Given the description of an element on the screen output the (x, y) to click on. 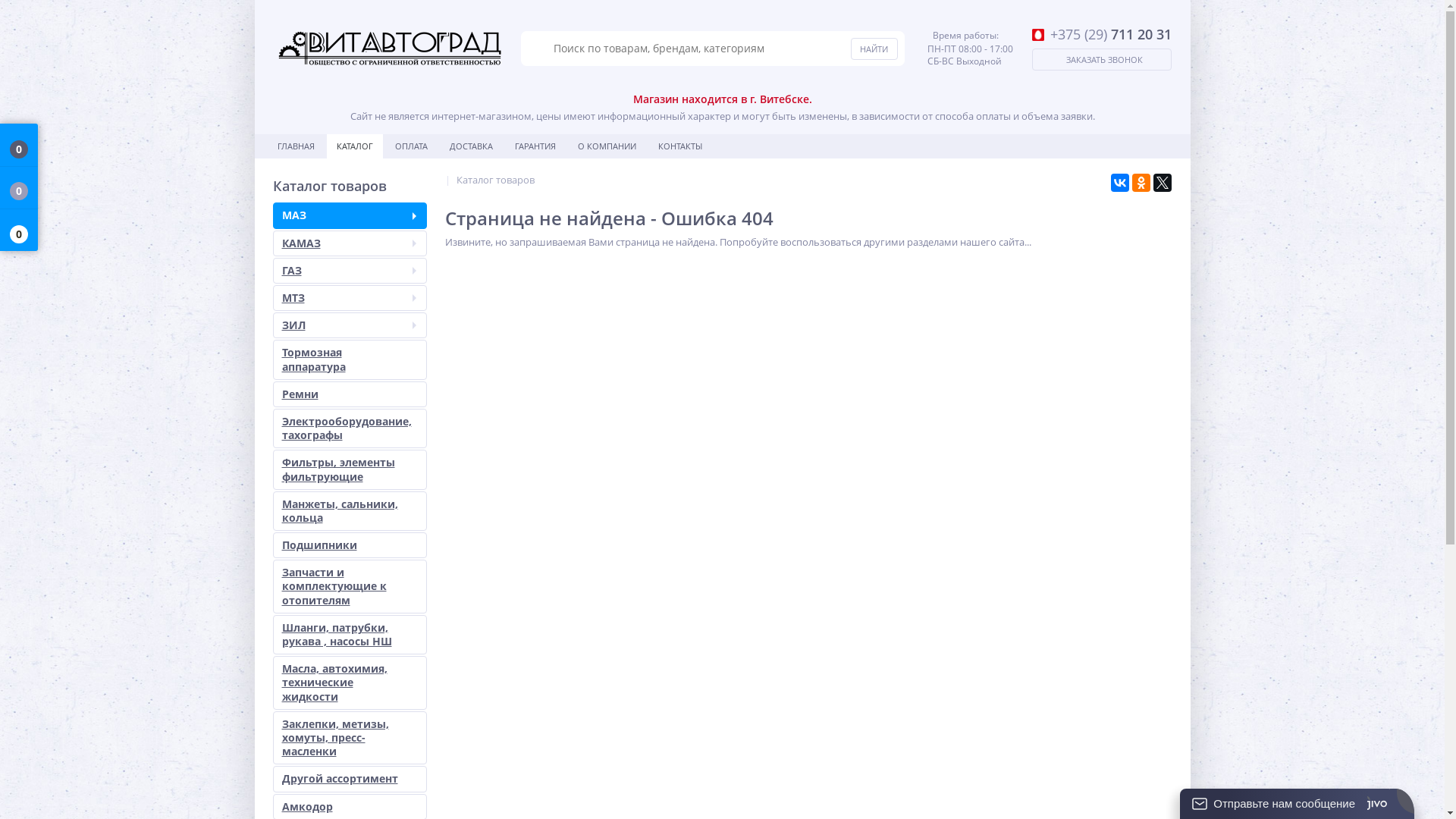
0 Element type: text (18, 187)
Twitter Element type: hover (1161, 182)
0 Element type: text (18, 144)
0 Element type: text (18, 230)
